Given the description of an element on the screen output the (x, y) to click on. 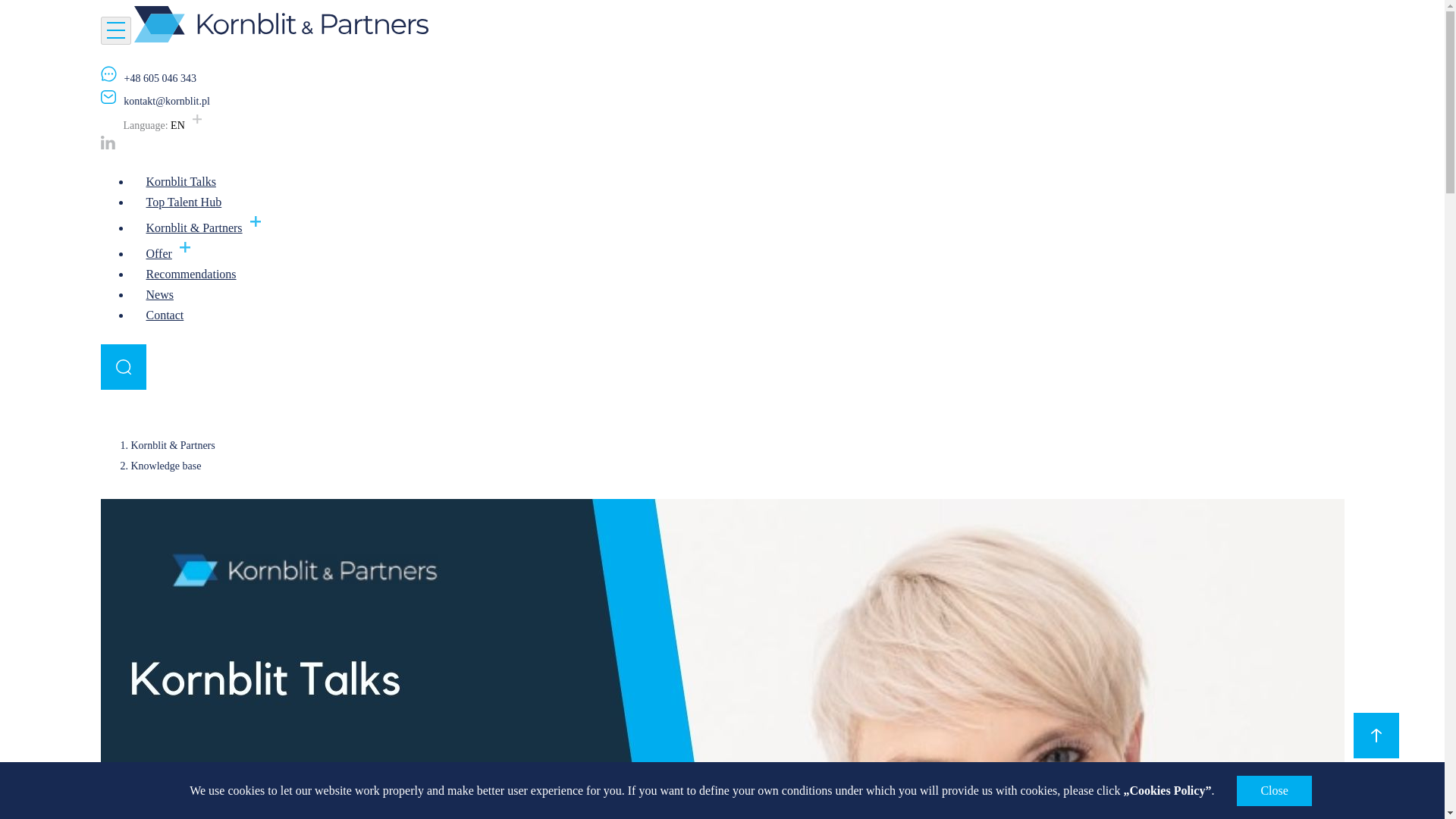
Recommendations (190, 273)
Knowledge base (165, 465)
News (159, 294)
Contact (164, 314)
Kornblit Talks (180, 180)
Top Talent Hub (183, 201)
Offer (169, 253)
